Given the description of an element on the screen output the (x, y) to click on. 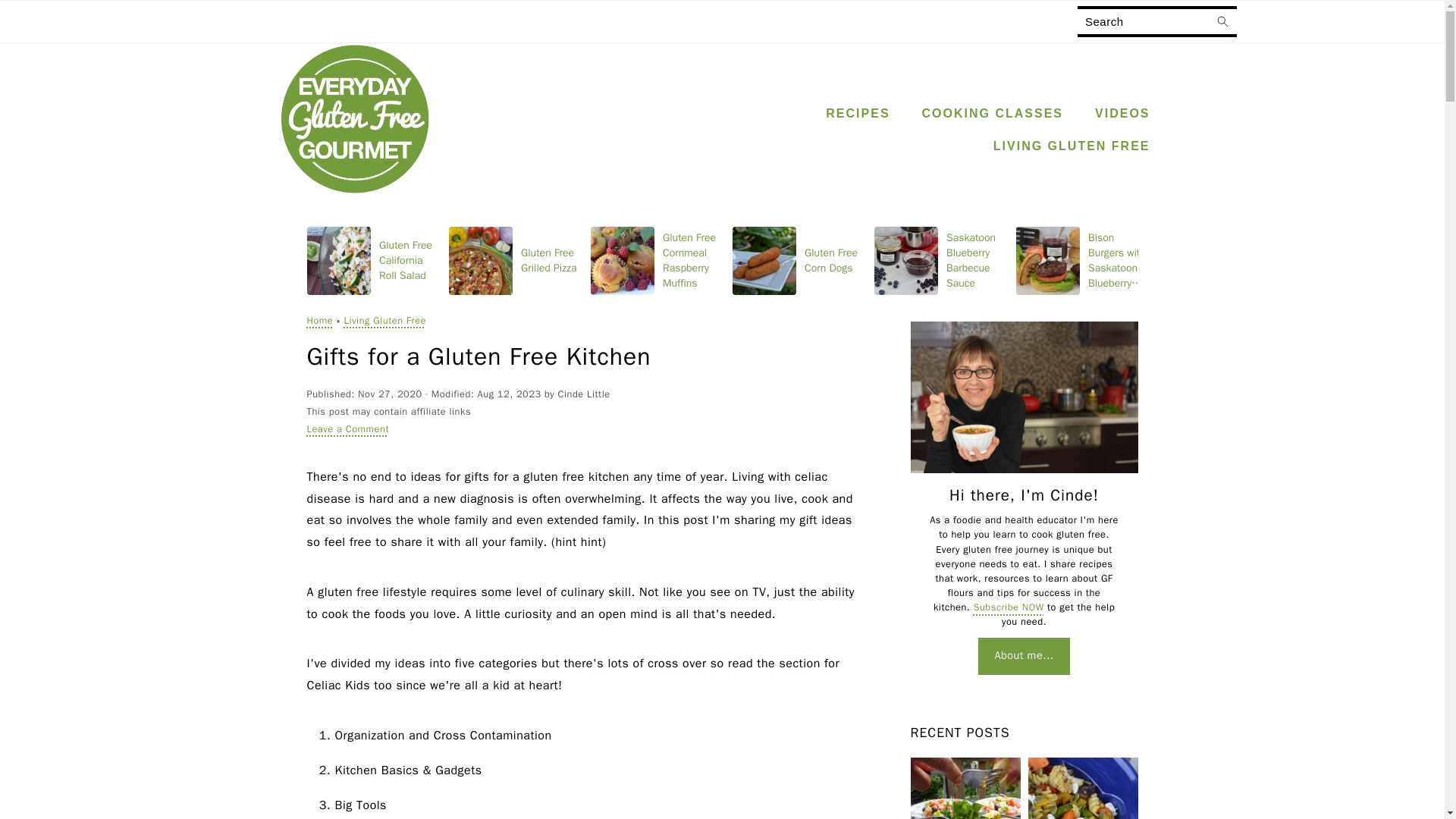
YouTube (1415, 22)
Instagram (1294, 22)
CONTACT (606, 19)
Instagram (1295, 22)
VIDEOS (1122, 113)
Everyday Gluten Free Gourmet (354, 118)
HOME (336, 19)
LinkedIn (1325, 22)
LinkedIn (1325, 22)
Twitter (1385, 22)
LIVING GLUTEN FREE (1071, 145)
Facebook (1264, 22)
Pinterest (1355, 22)
